Given the description of an element on the screen output the (x, y) to click on. 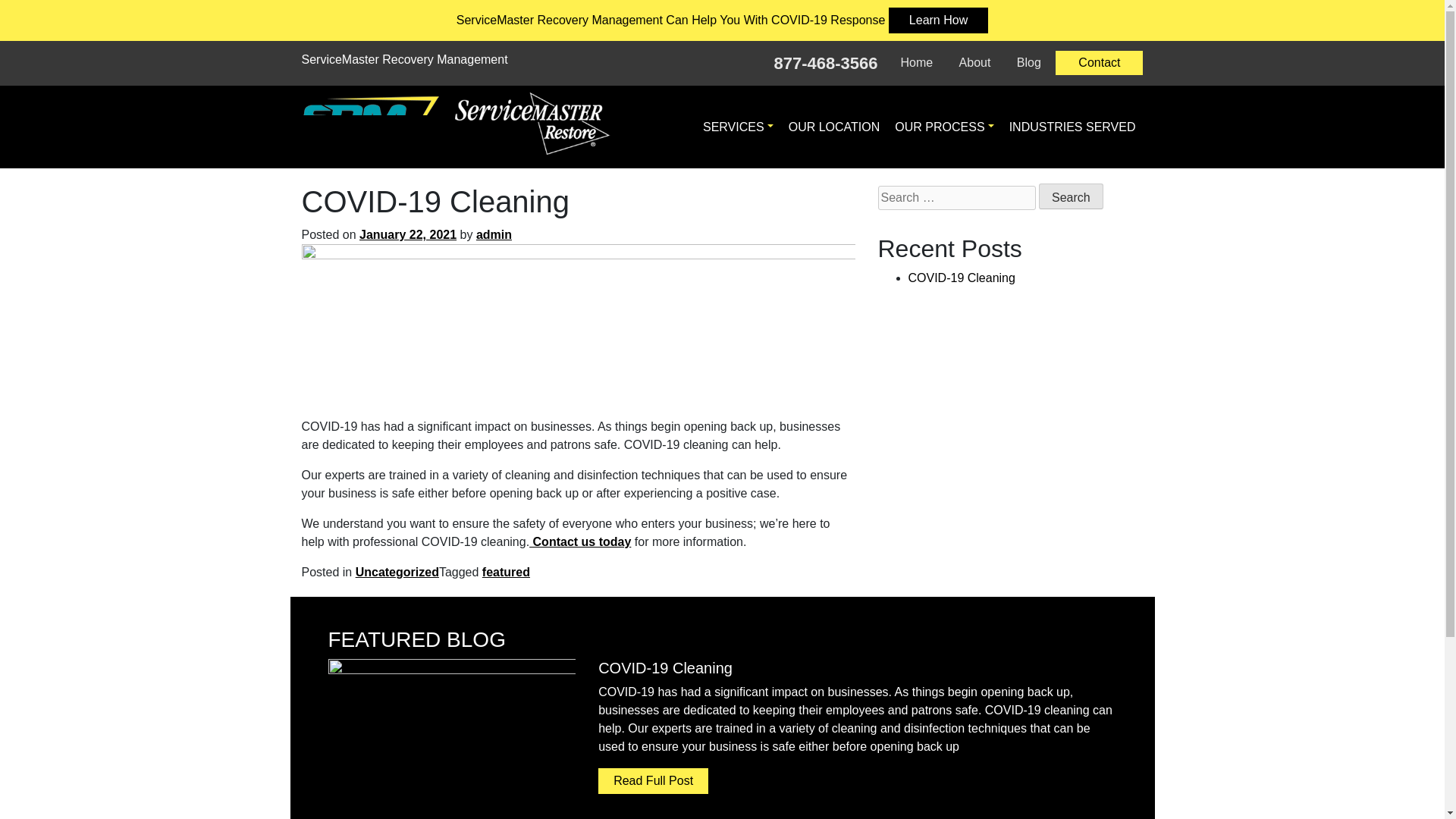
SERVICES (737, 127)
OUR PROCESS (943, 127)
featured (505, 571)
Contact us today (579, 541)
Read Full Post (652, 780)
INDUSTRIES SERVED (1071, 127)
admin (494, 234)
About (975, 63)
Search (1071, 196)
Blog (1029, 63)
